Given the description of an element on the screen output the (x, y) to click on. 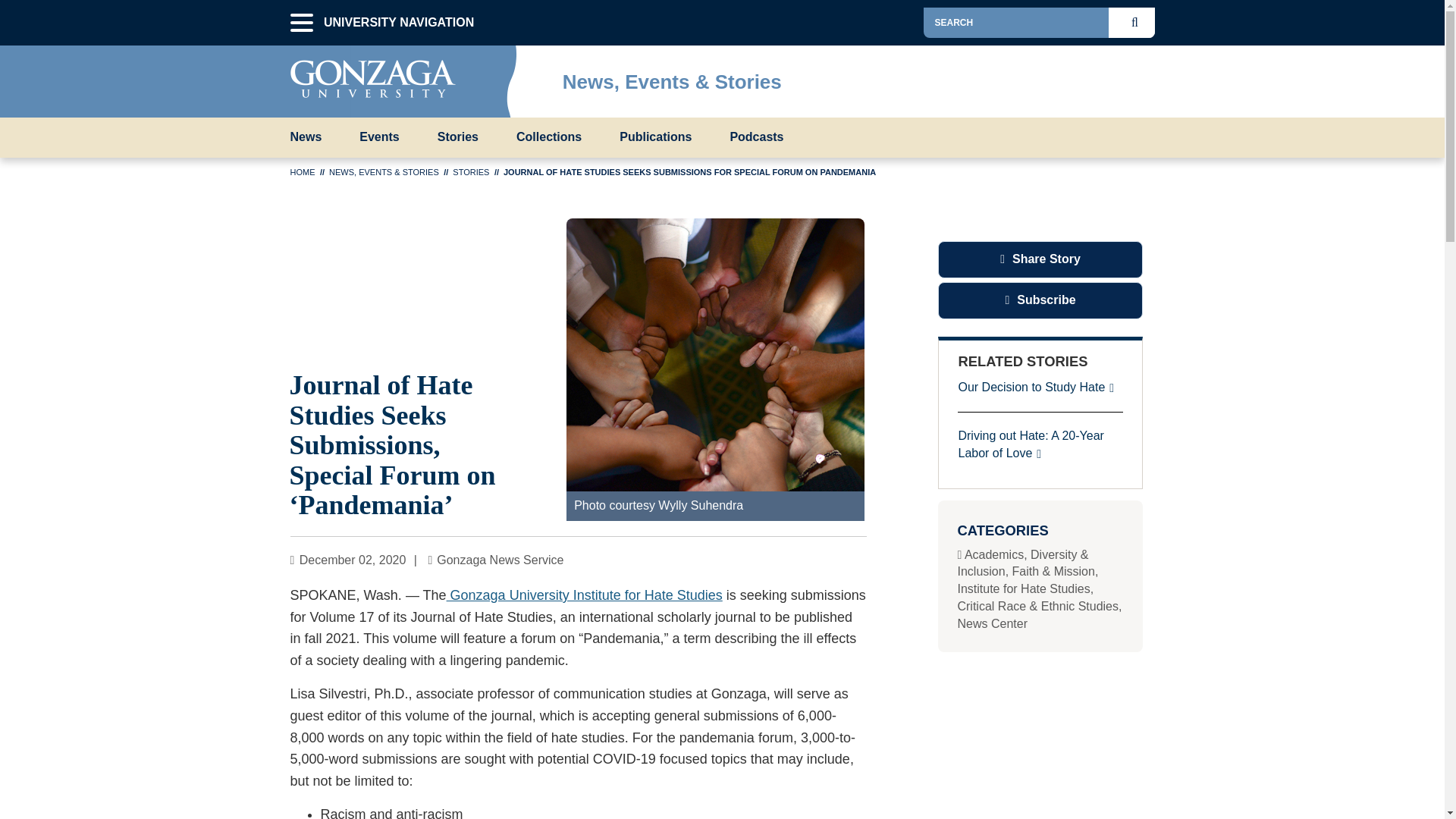
Toggle Menu (1142, 77)
SEARCH BUTTON (1137, 22)
UNIVERSITY NAVIGATION (301, 22)
